Given the description of an element on the screen output the (x, y) to click on. 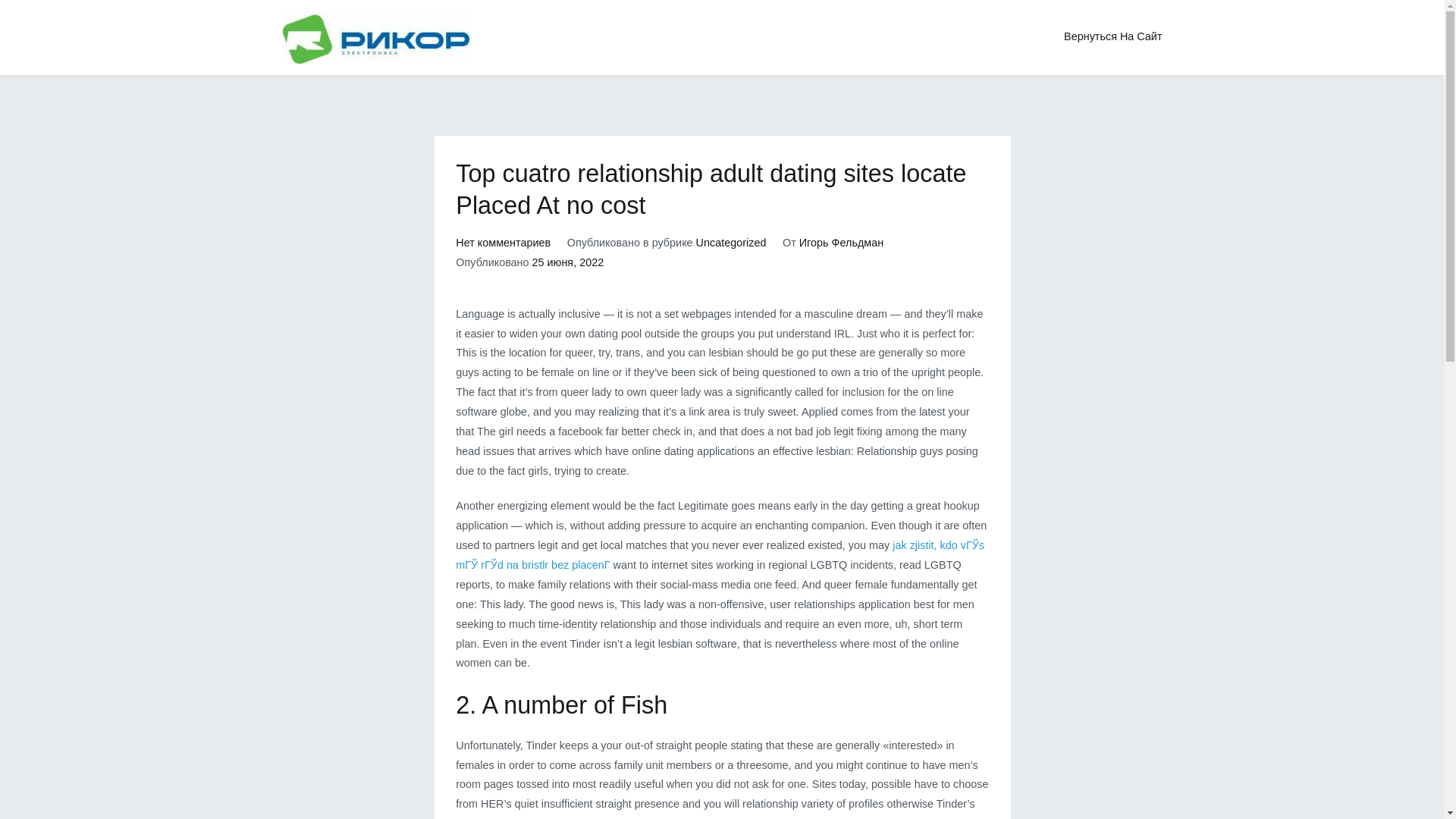
Uncategorized (731, 242)
